Given the description of an element on the screen output the (x, y) to click on. 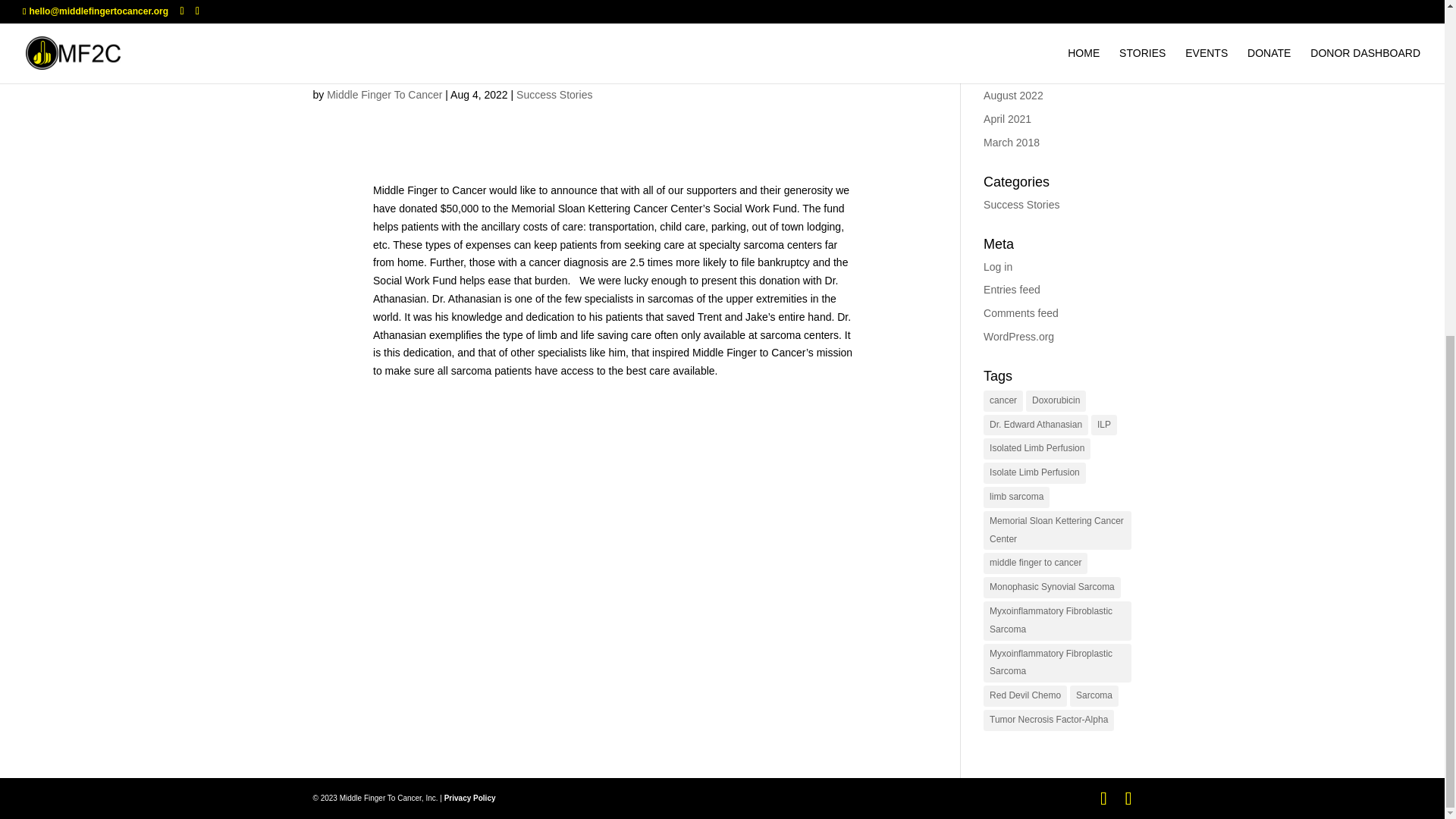
Comments feed (1021, 313)
Success Stories (1021, 204)
Doxorubicin (1056, 400)
WordPress.org (1019, 336)
Dr. Edward Athanasian (1035, 424)
Entries feed (1012, 289)
August 2022 (1013, 95)
Isolated Limb Perfusion (1037, 448)
Log in (997, 266)
March 2018 (1011, 142)
Posts by Middle Finger To Cancer (384, 94)
cancer (1003, 400)
June 2024 (1008, 72)
Middle Finger To Cancer (384, 94)
ILP (1103, 424)
